Given the description of an element on the screen output the (x, y) to click on. 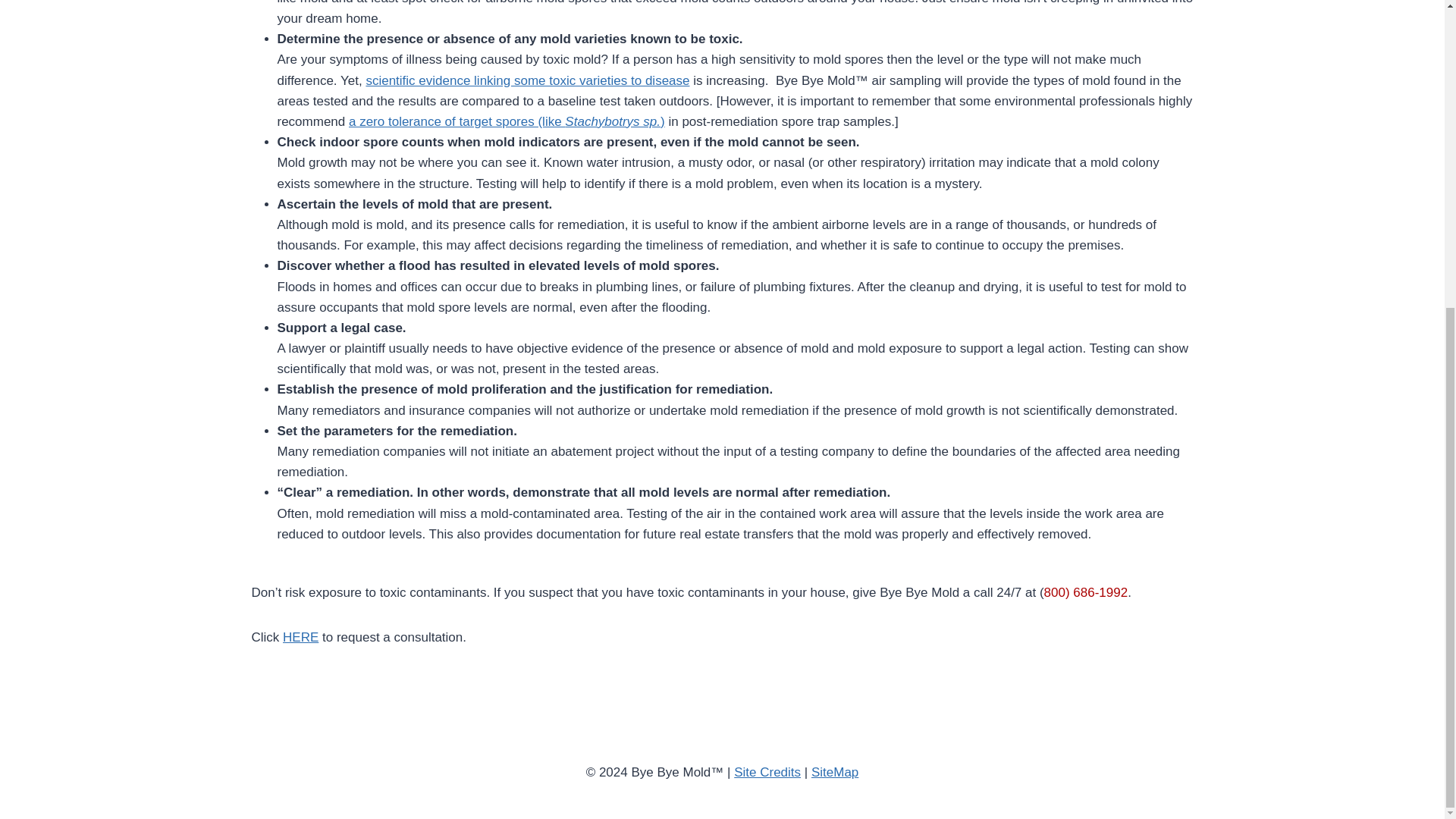
Request a consultation (300, 636)
